Given the description of an element on the screen output the (x, y) to click on. 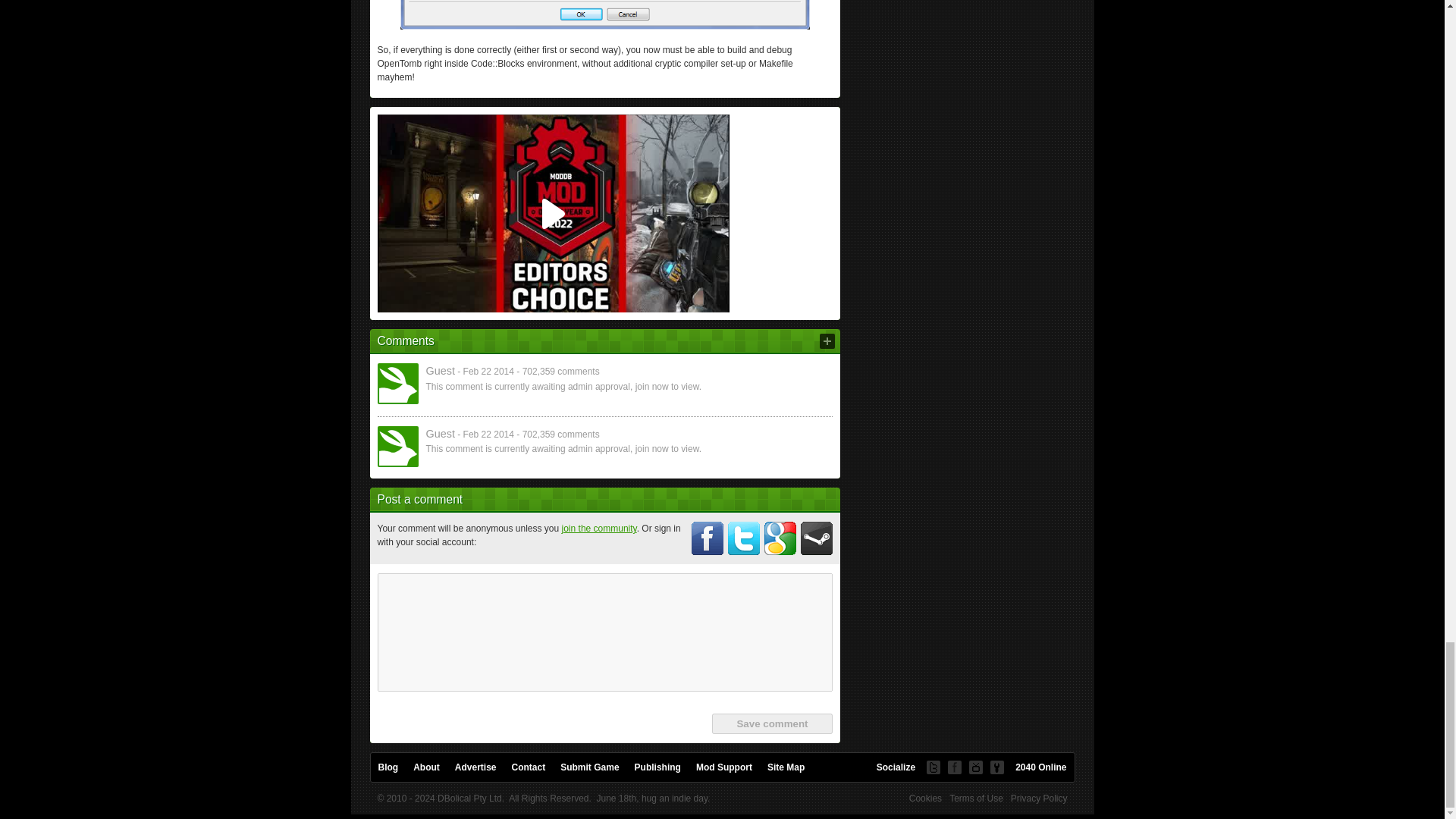
Post comment (826, 340)
Click to connect via Steam (816, 538)
Save comment (771, 723)
Guest (398, 383)
Guest (398, 445)
